Given the description of an element on the screen output the (x, y) to click on. 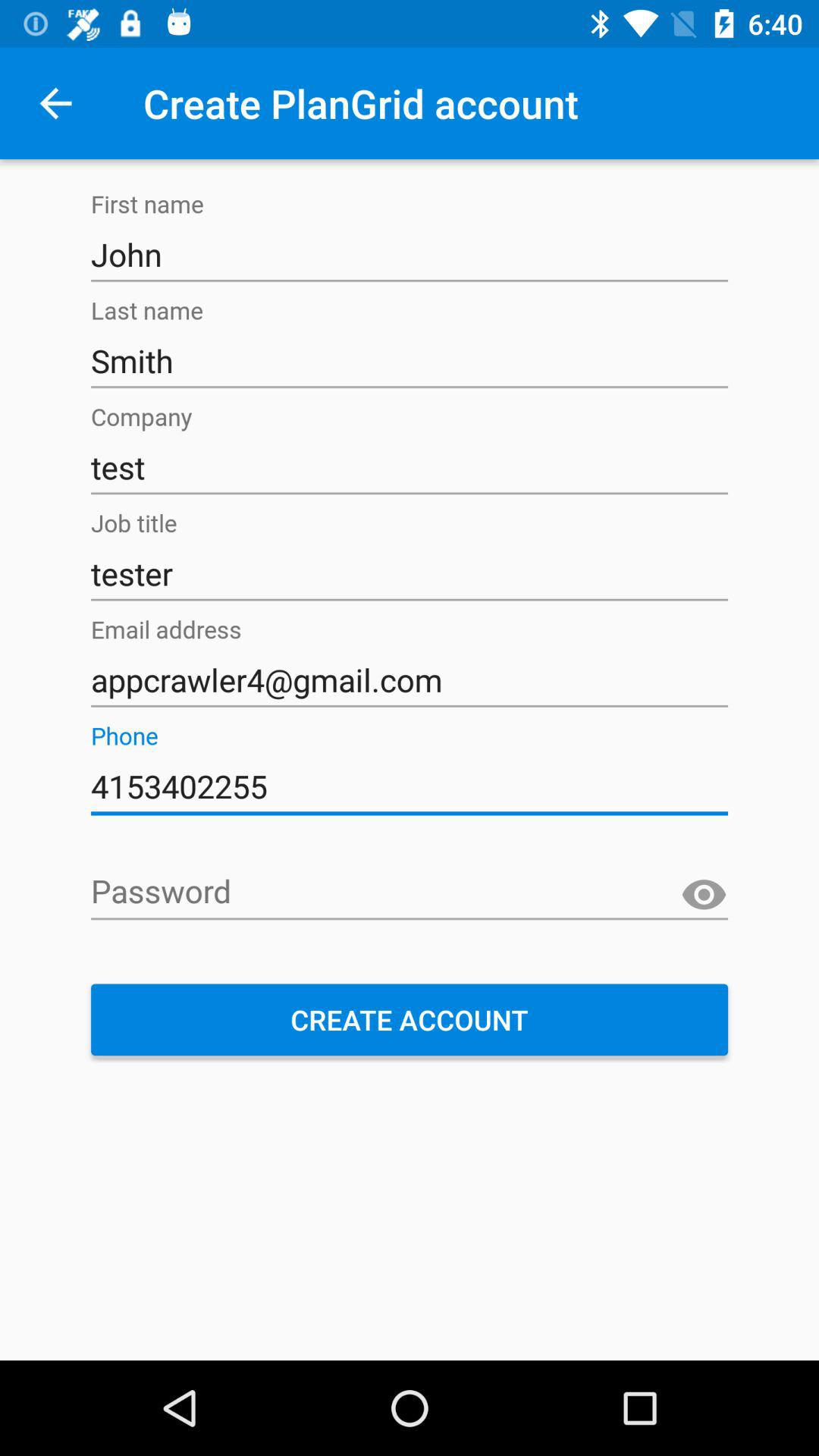
toggle password masking (703, 895)
